Given the description of an element on the screen output the (x, y) to click on. 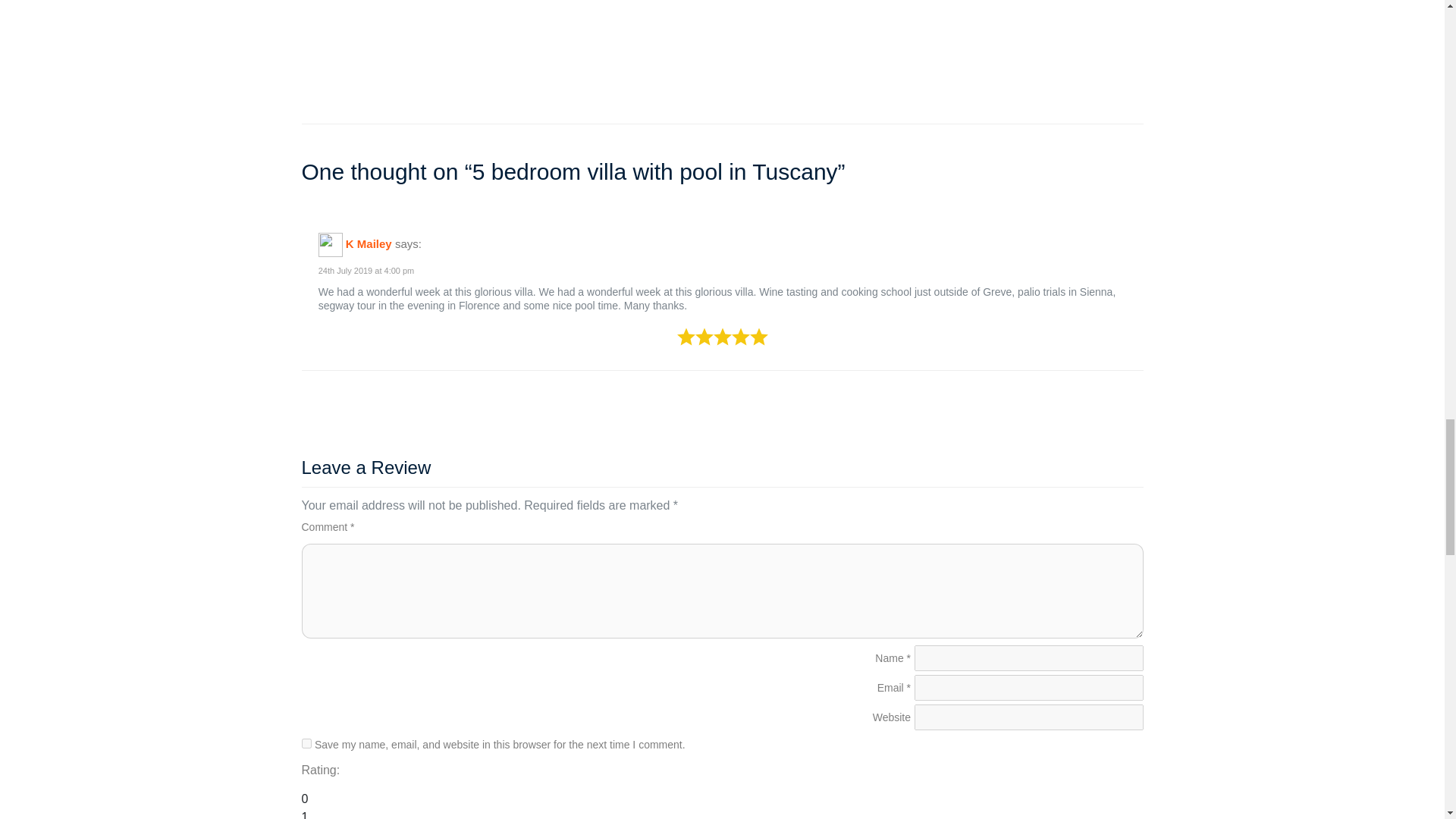
yes (306, 743)
